Given the description of an element on the screen output the (x, y) to click on. 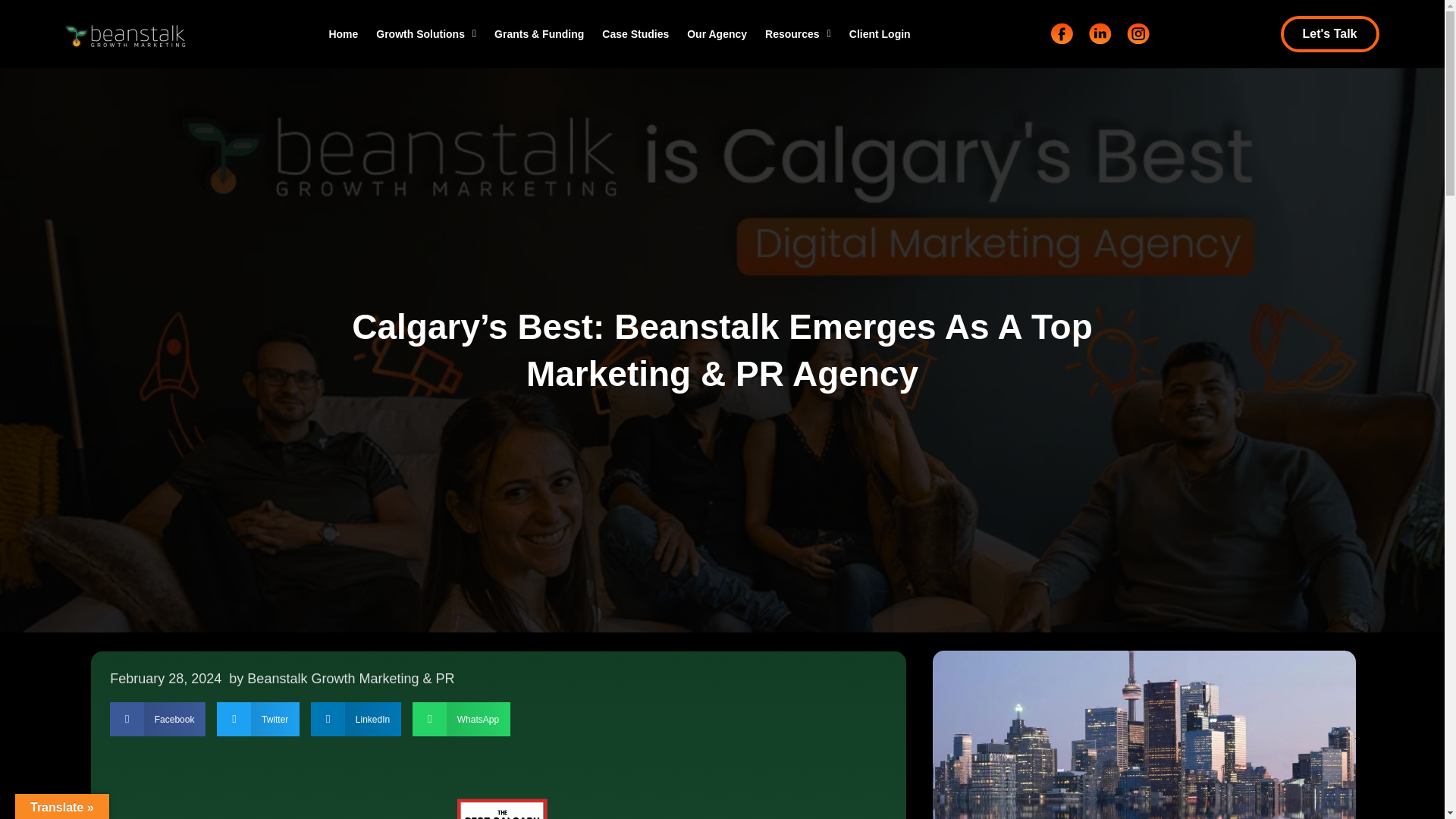
Resources (797, 33)
Our Agency (716, 33)
Growth Solutions (425, 33)
Let's Talk (1329, 33)
Case Studies (635, 33)
Client Login (880, 33)
Home (342, 33)
